Given the description of an element on the screen output the (x, y) to click on. 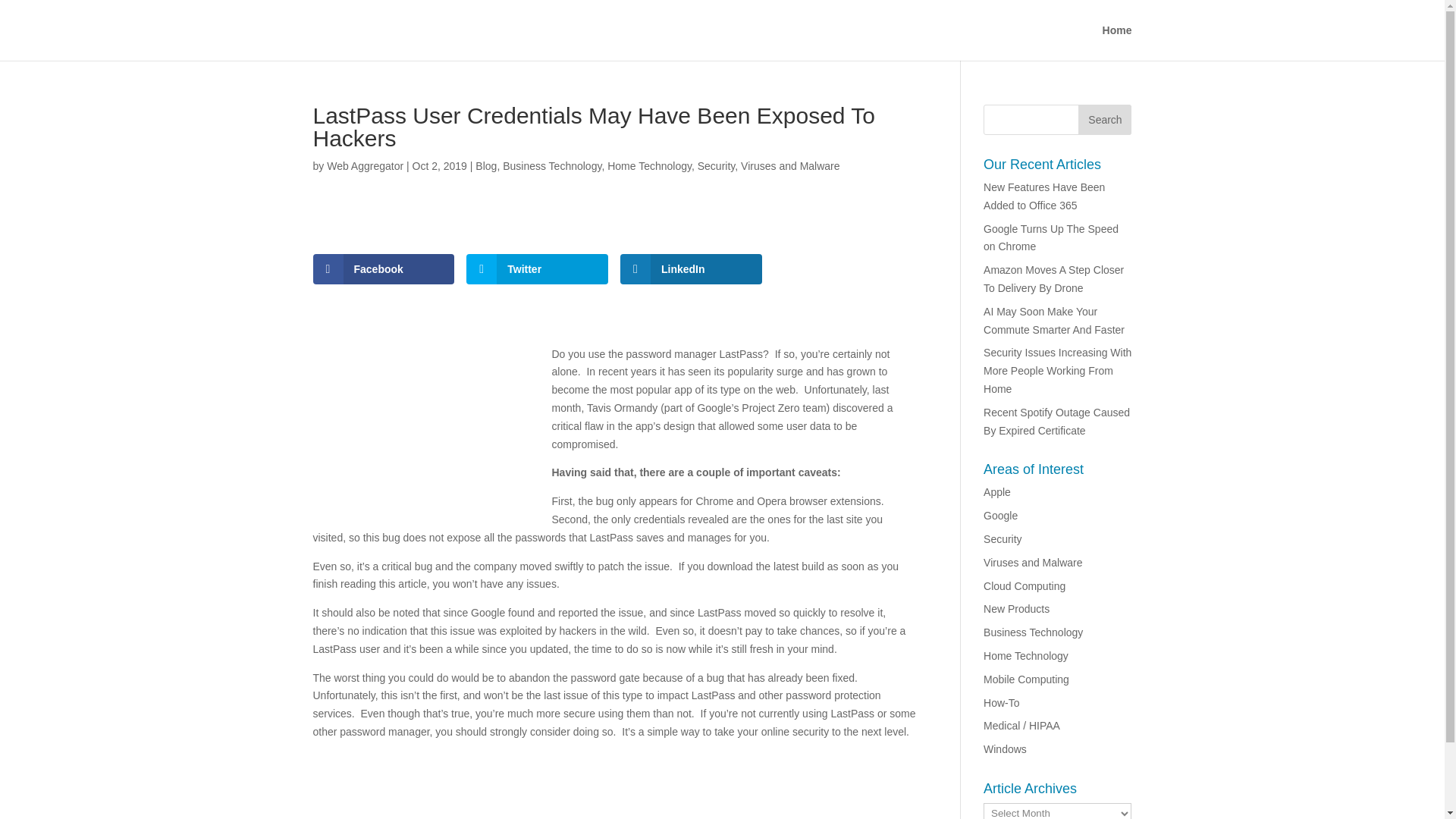
Home Technology (1026, 655)
Security (1003, 539)
Google (1000, 515)
Business Technology (1033, 632)
Viruses and Malware (790, 165)
Business Technology (551, 165)
Security (716, 165)
Recent Spotify Outage Caused By Expired Certificate (1056, 421)
Viruses and Malware (1032, 562)
